Given the description of an element on the screen output the (x, y) to click on. 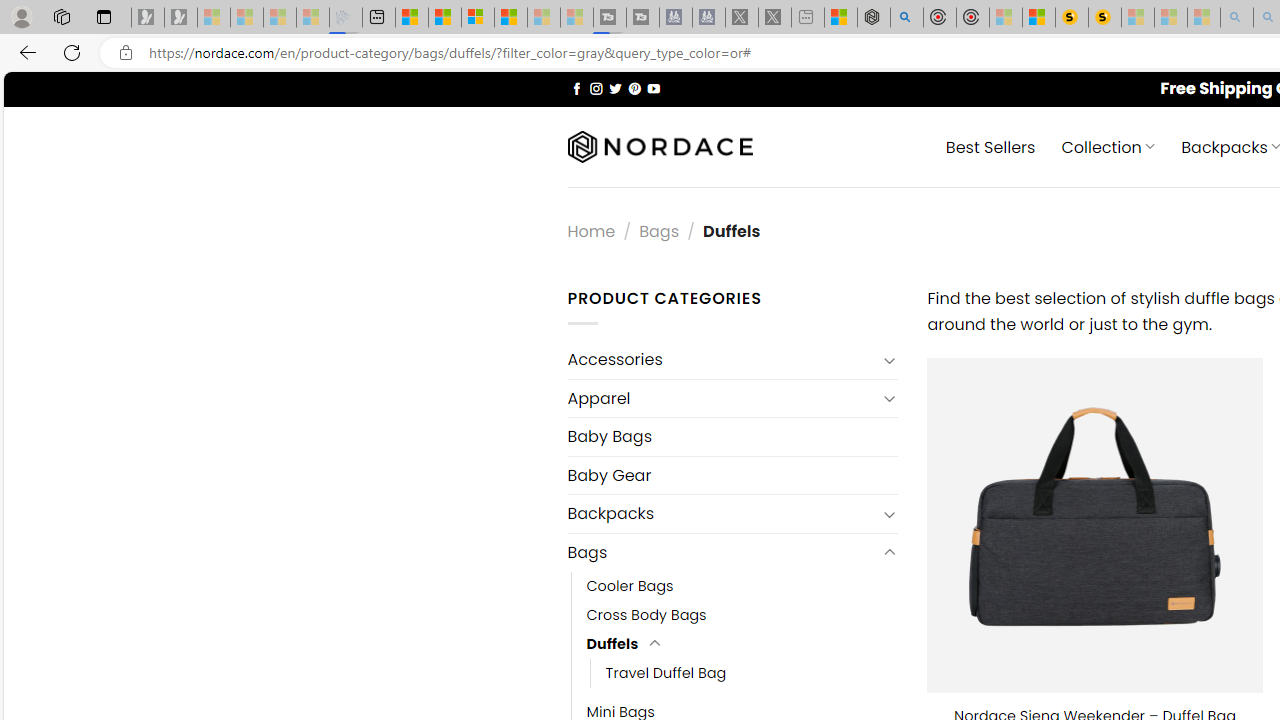
Baby Bags (732, 435)
 Best Sellers (989, 146)
Cooler Bags (742, 585)
Overview (478, 17)
